Given the description of an element on the screen output the (x, y) to click on. 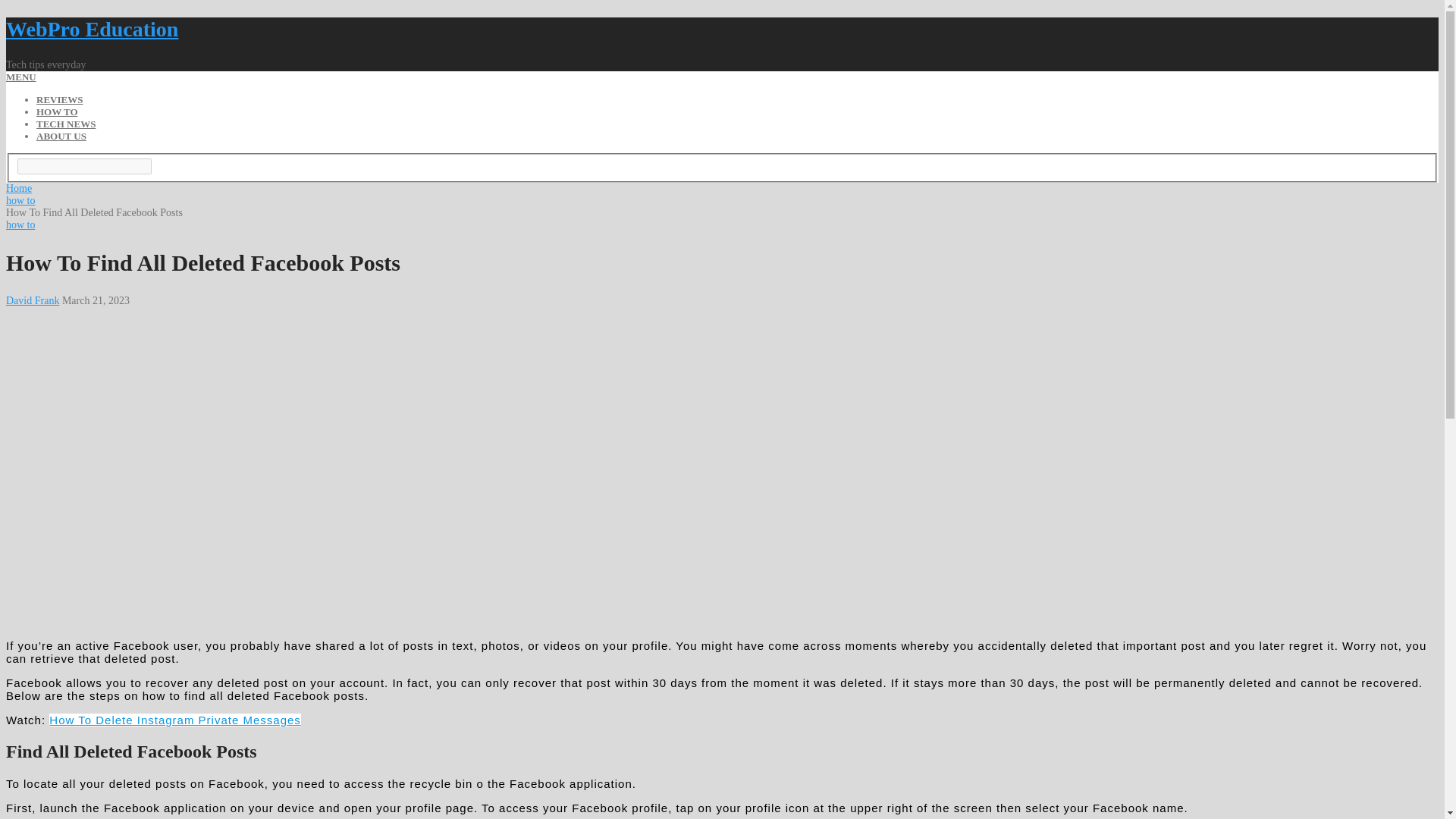
HOW TO (57, 111)
MENU (20, 76)
ABOUT US (60, 135)
Home (18, 188)
David Frank (32, 300)
View all posts in how to (19, 224)
Posts by David Frank (32, 300)
TECH NEWS (66, 123)
How To Delete Instagram Private Messages (175, 719)
how to (19, 224)
WebPro Education (91, 28)
how to (19, 200)
REVIEWS (59, 99)
